Given the description of an element on the screen output the (x, y) to click on. 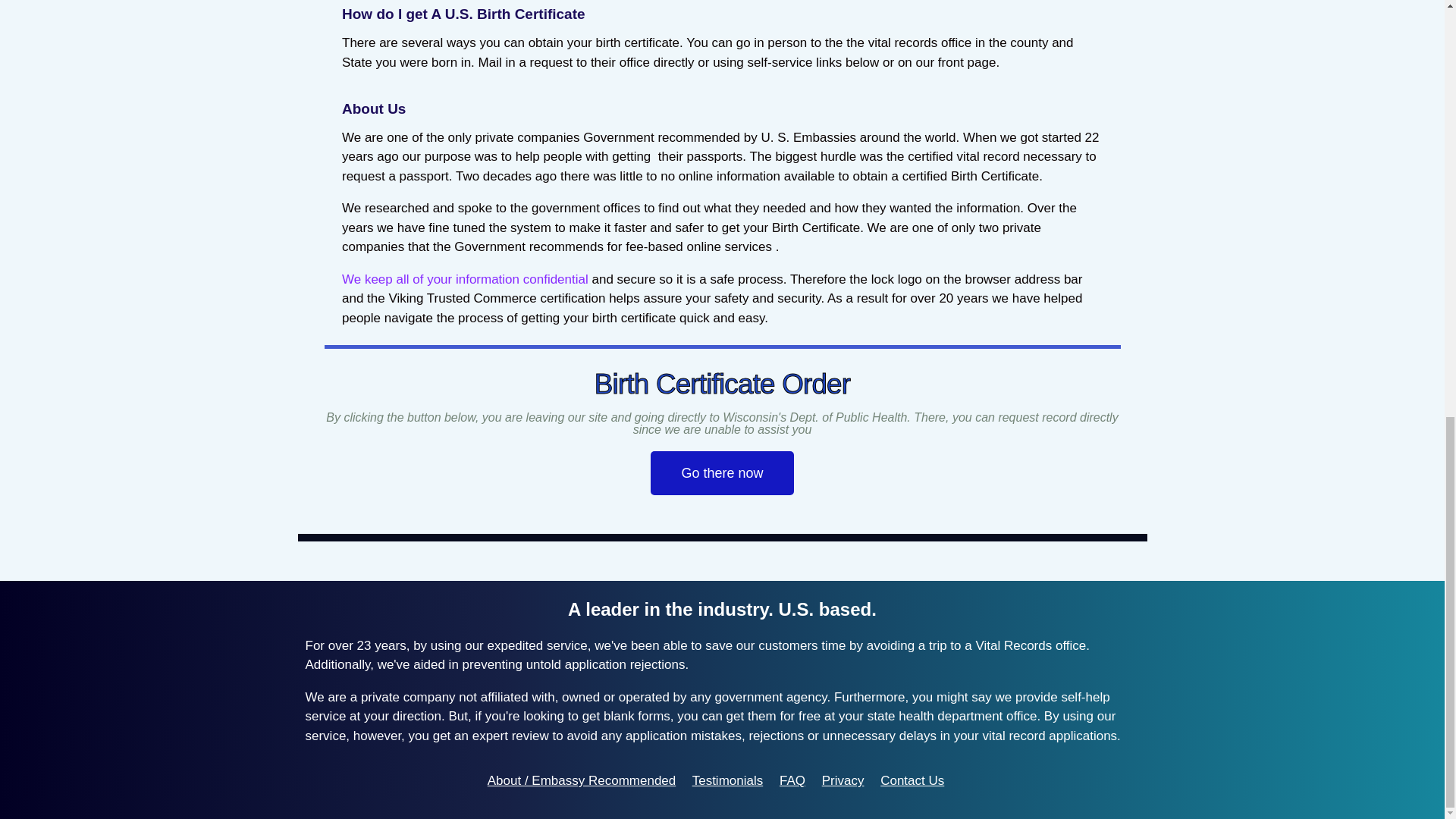
Testimonials (727, 780)
Privacy (843, 780)
Contact Us (911, 780)
FAQ (791, 780)
We keep all of your information confidential (465, 278)
Go there now (721, 473)
